Given the description of an element on the screen output the (x, y) to click on. 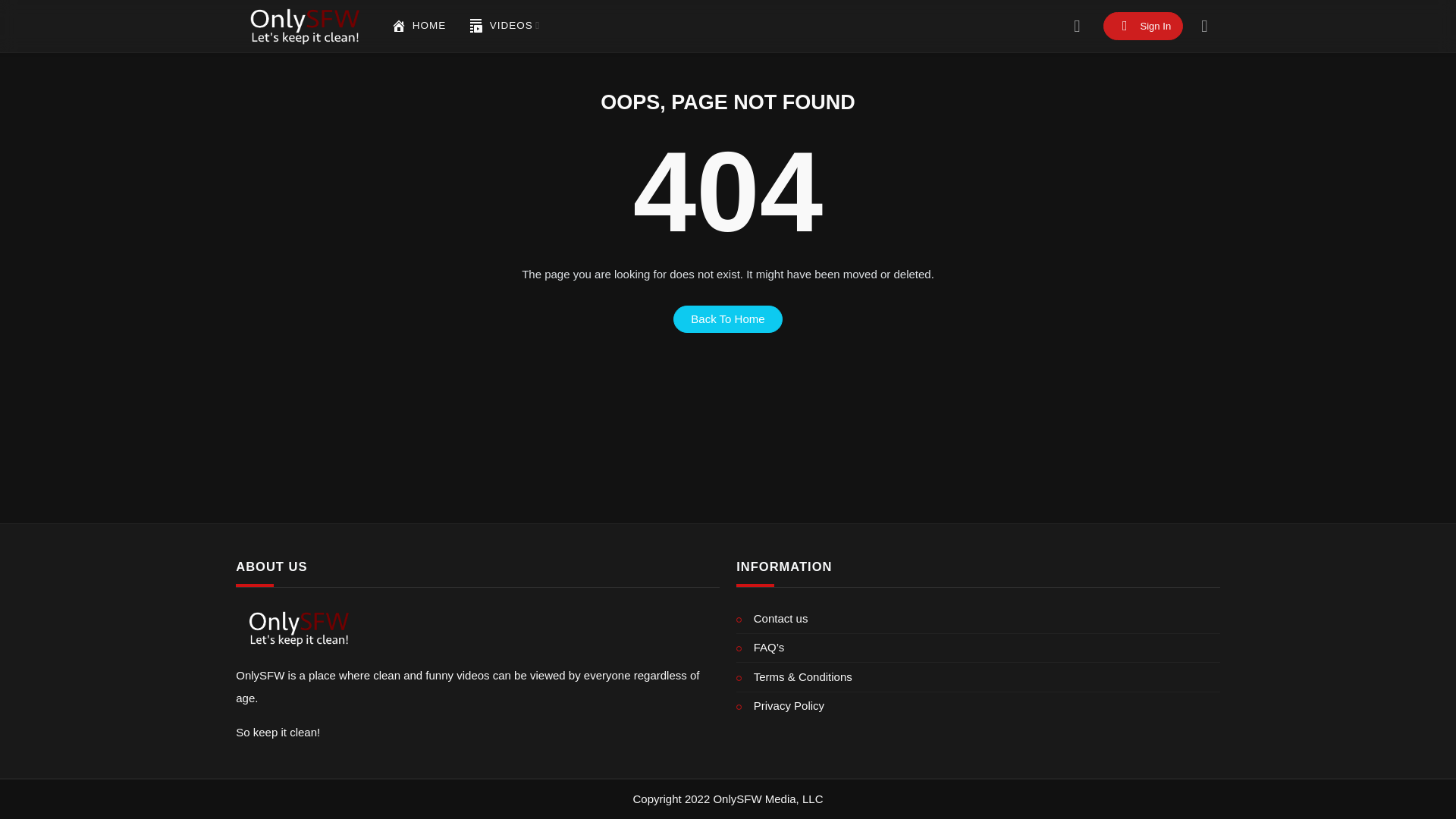
HOME (418, 25)
Home (418, 25)
Sign In (1143, 26)
VIDEOS (504, 25)
Contact us (978, 619)
Home (398, 25)
Privacy Policy (978, 705)
Videos (475, 25)
Back To Home (727, 318)
Videos (504, 25)
